Given the description of an element on the screen output the (x, y) to click on. 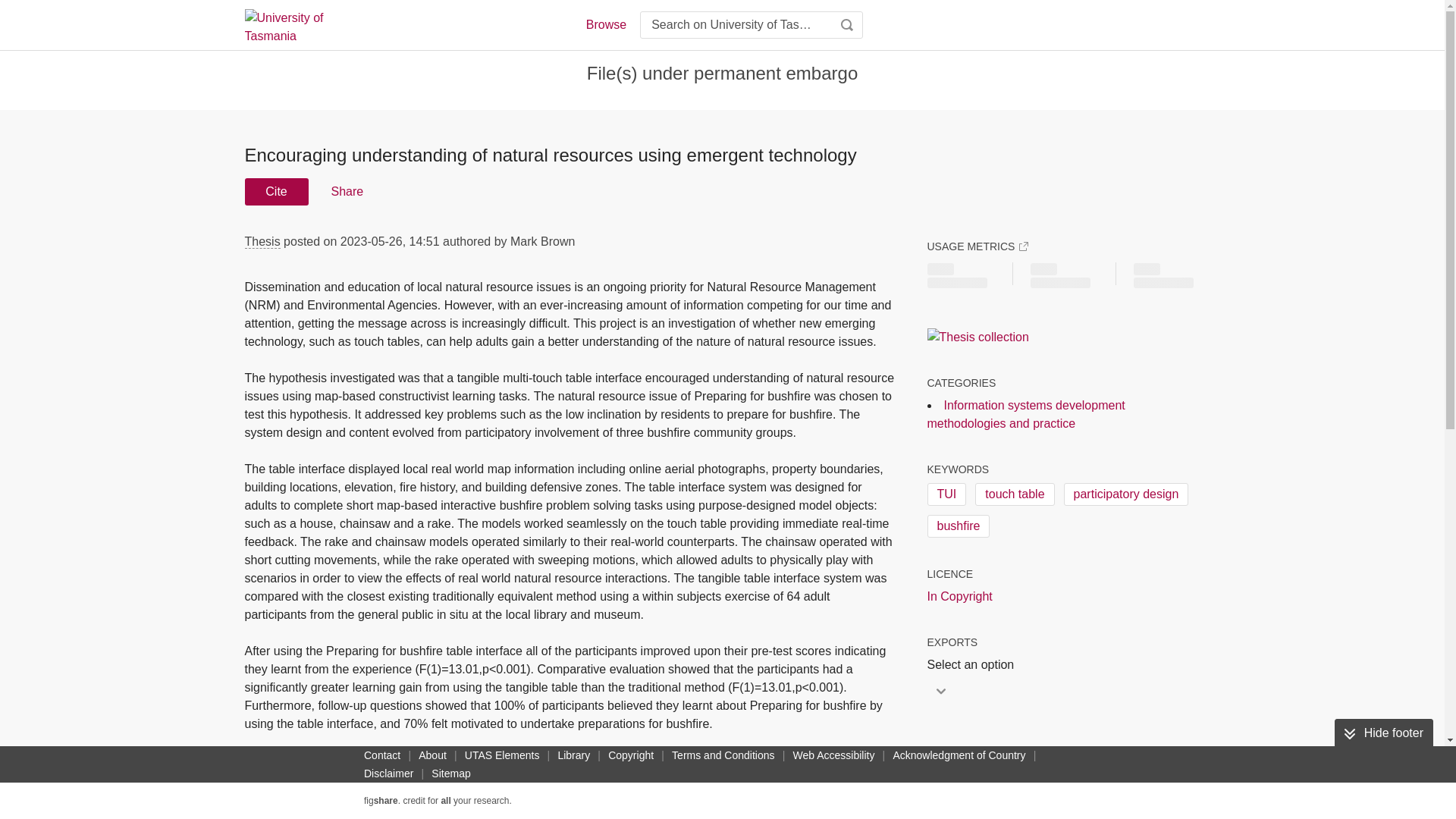
Disclaimer (388, 773)
Copyright (631, 755)
Share (346, 191)
Sitemap (450, 773)
Terms and Conditions (722, 755)
TUI (946, 494)
touch table (1014, 494)
Library (573, 755)
In Copyright (958, 597)
UTAS Elements (502, 755)
